Given the description of an element on the screen output the (x, y) to click on. 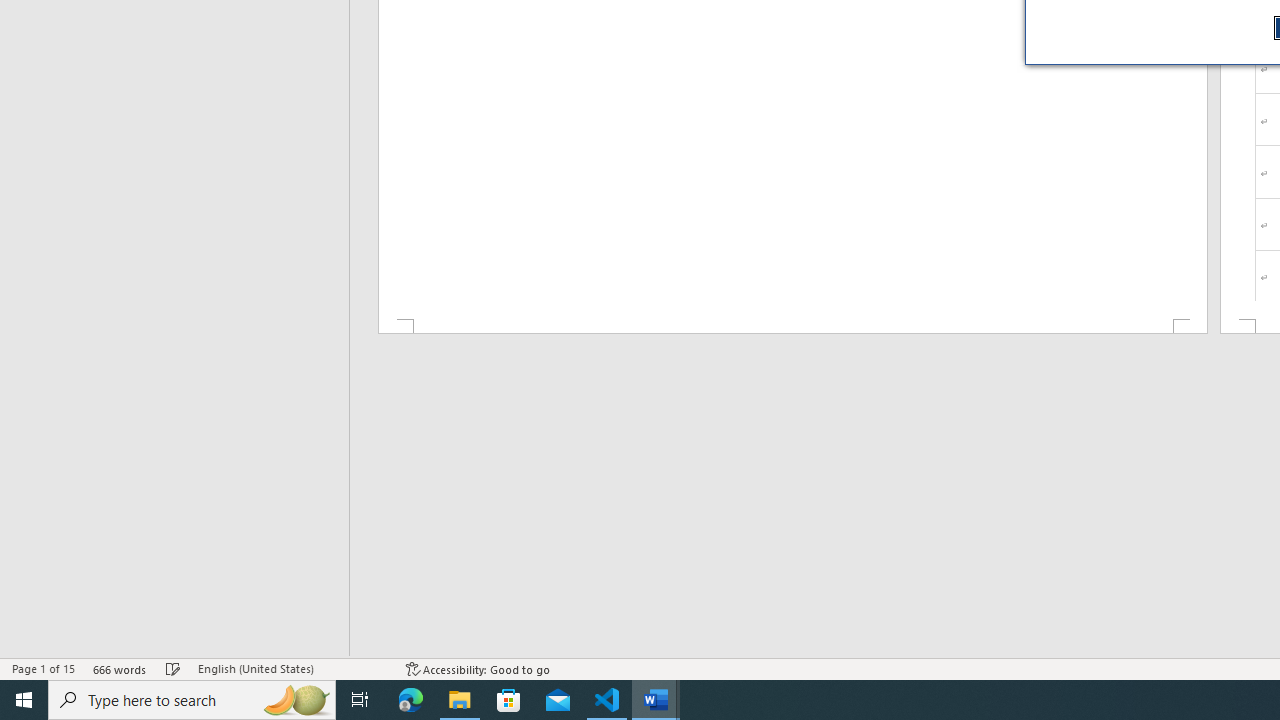
Page Number Page 1 of 15 (43, 668)
